Given the description of an element on the screen output the (x, y) to click on. 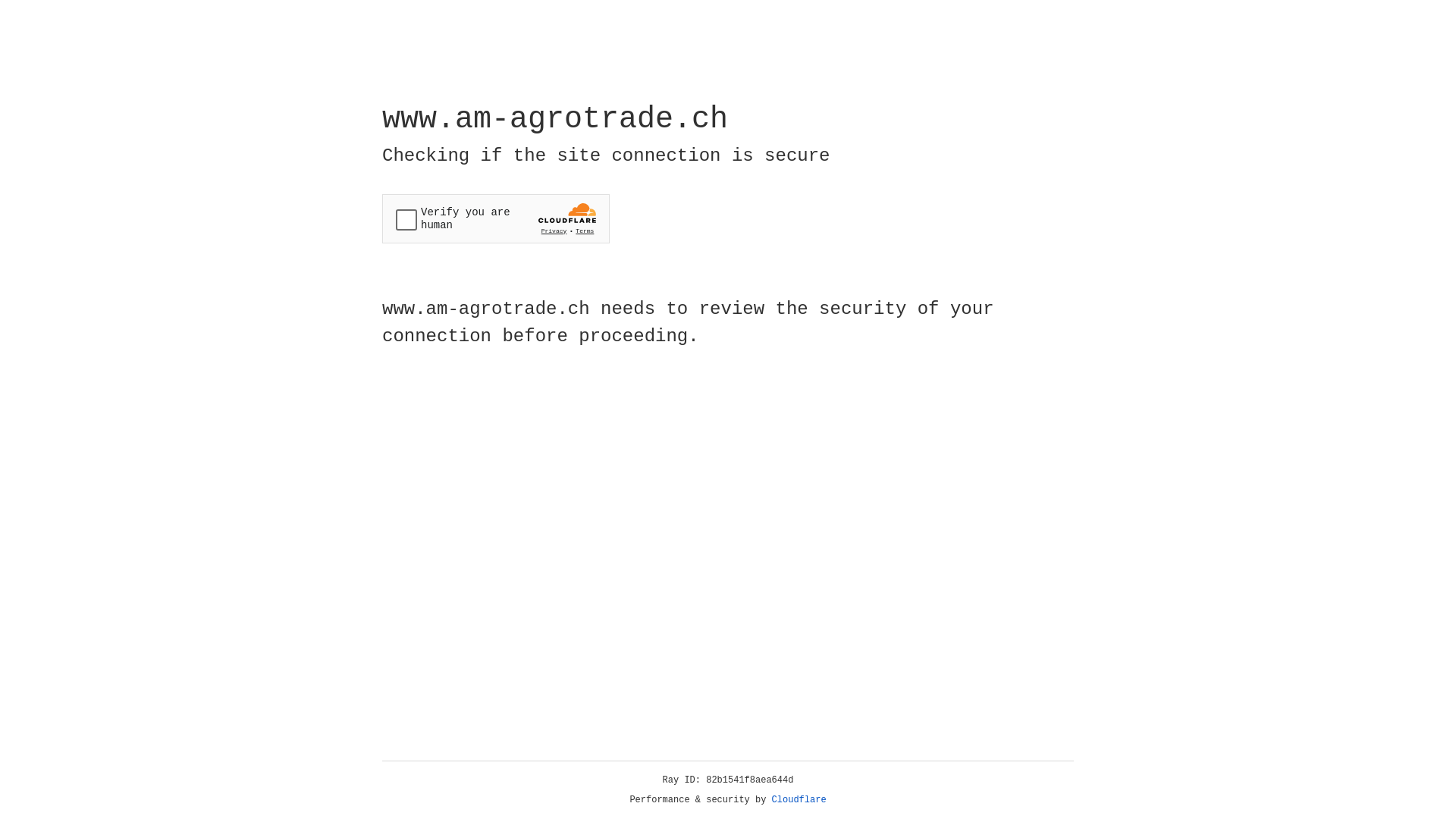
Widget containing a Cloudflare security challenge Element type: hover (495, 218)
Cloudflare Element type: text (798, 799)
